Given the description of an element on the screen output the (x, y) to click on. 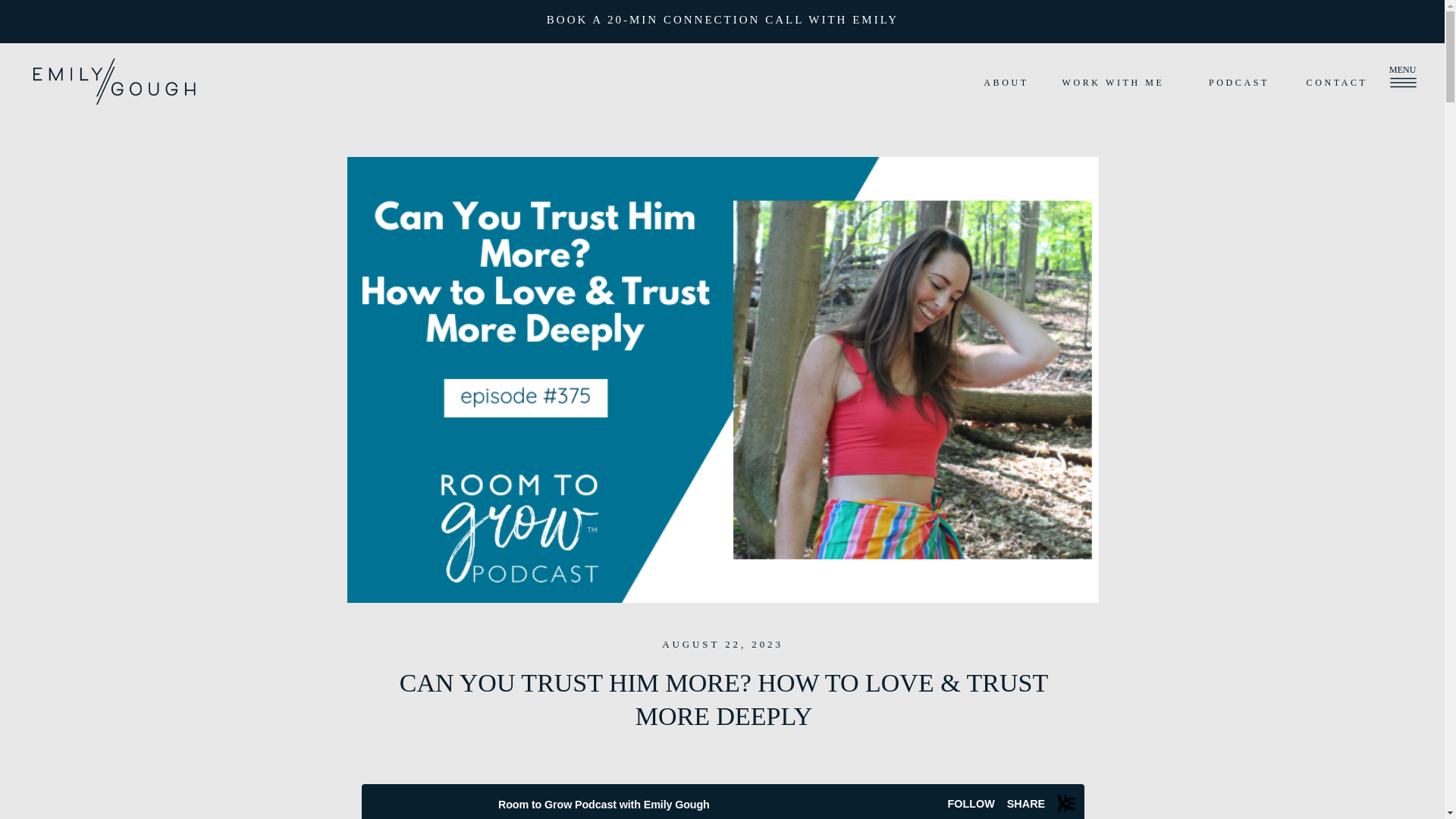
Embed Player (722, 801)
PODCAST (1238, 82)
WORK WITH ME (1113, 82)
ABOUT (1005, 82)
CONTACT (1337, 82)
BOOK A 20-MIN CONNECTION CALL WITH EMILY (722, 21)
